Given the description of an element on the screen output the (x, y) to click on. 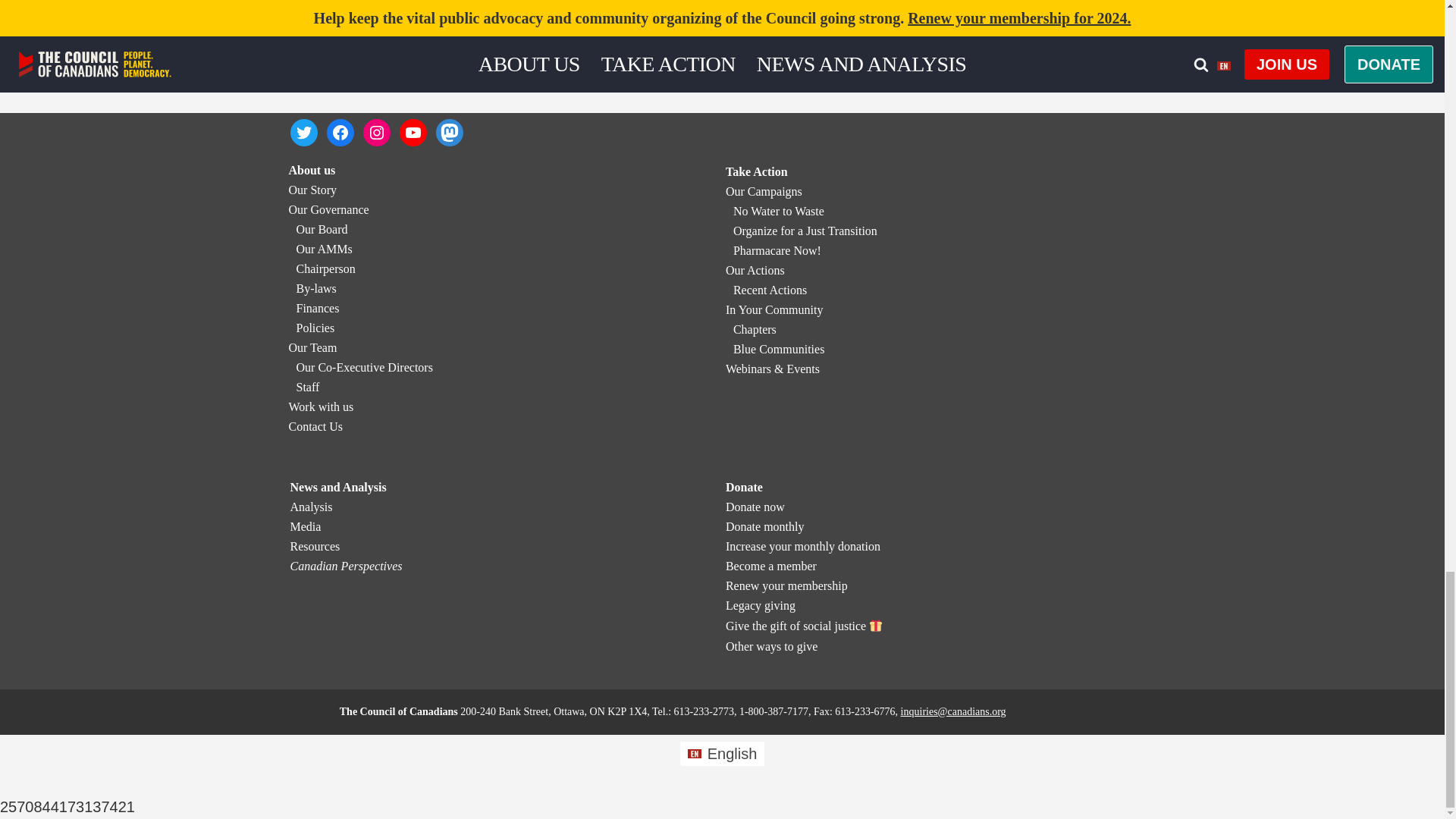
Our AMMs (323, 248)
Our Governance (328, 209)
Our Board (321, 228)
Our Story (312, 189)
About us (311, 169)
